Given the description of an element on the screen output the (x, y) to click on. 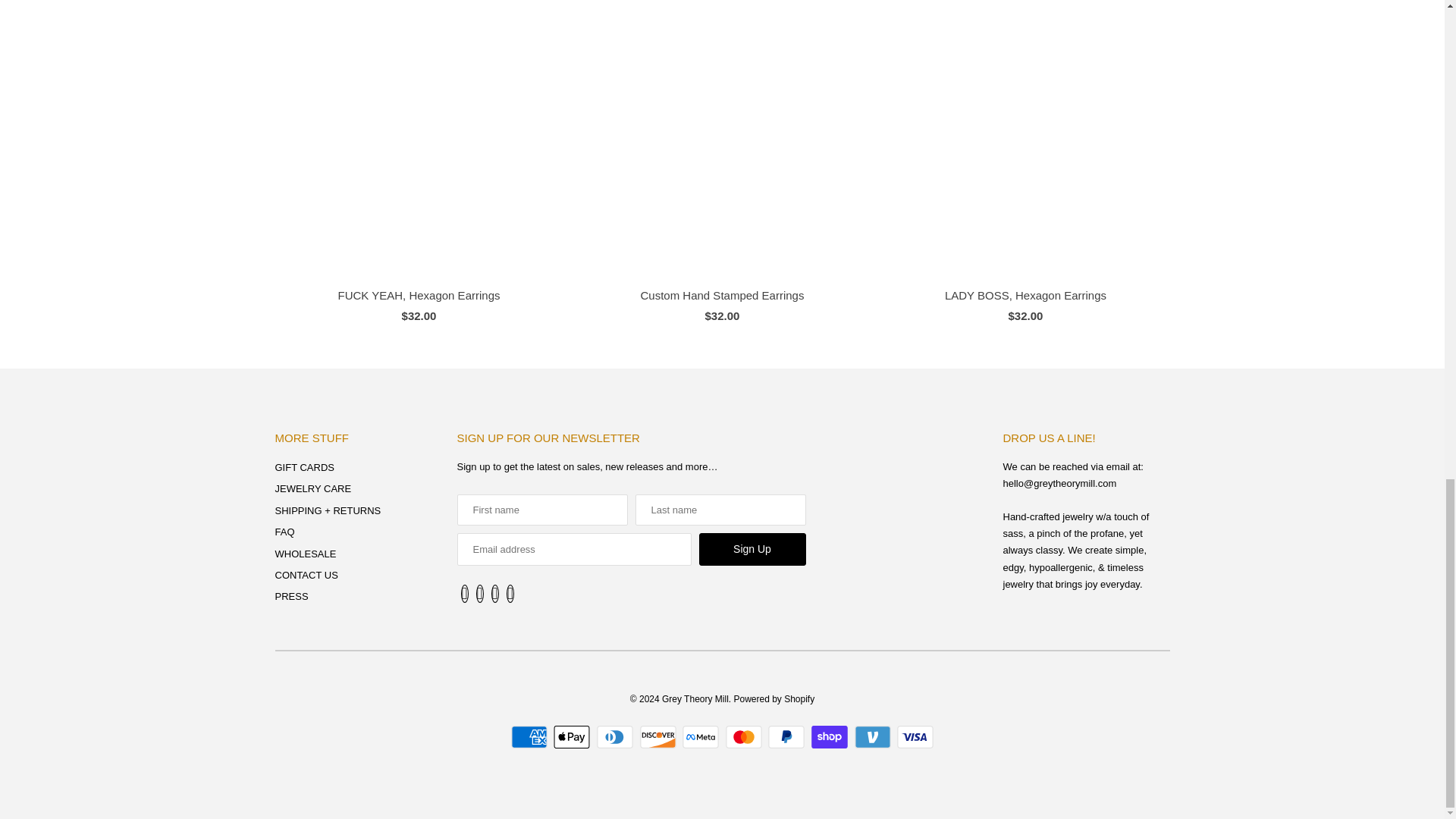
Discover (659, 736)
American Express (531, 736)
Shop Pay (830, 736)
PayPal (788, 736)
Diners Club (616, 736)
Venmo (874, 736)
Visa (914, 736)
Mastercard (745, 736)
Sign Up (752, 549)
Apple Pay (573, 736)
